Given the description of an element on the screen output the (x, y) to click on. 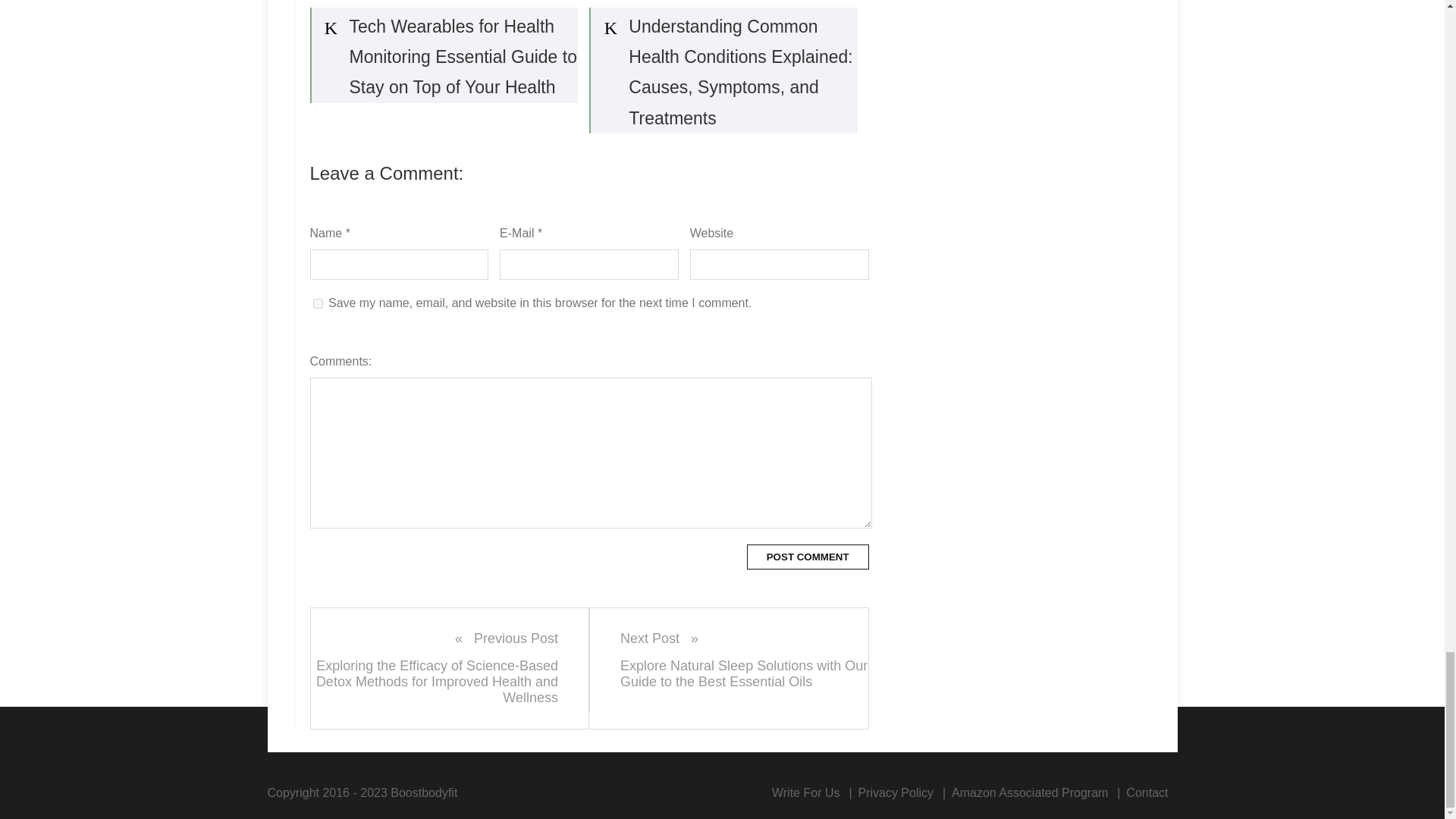
Contact (1146, 792)
Post Comment (807, 556)
Amazon Associated Program (1030, 792)
Post Comment (807, 556)
Privacy Policy (895, 792)
Write For Us (805, 792)
